Given the description of an element on the screen output the (x, y) to click on. 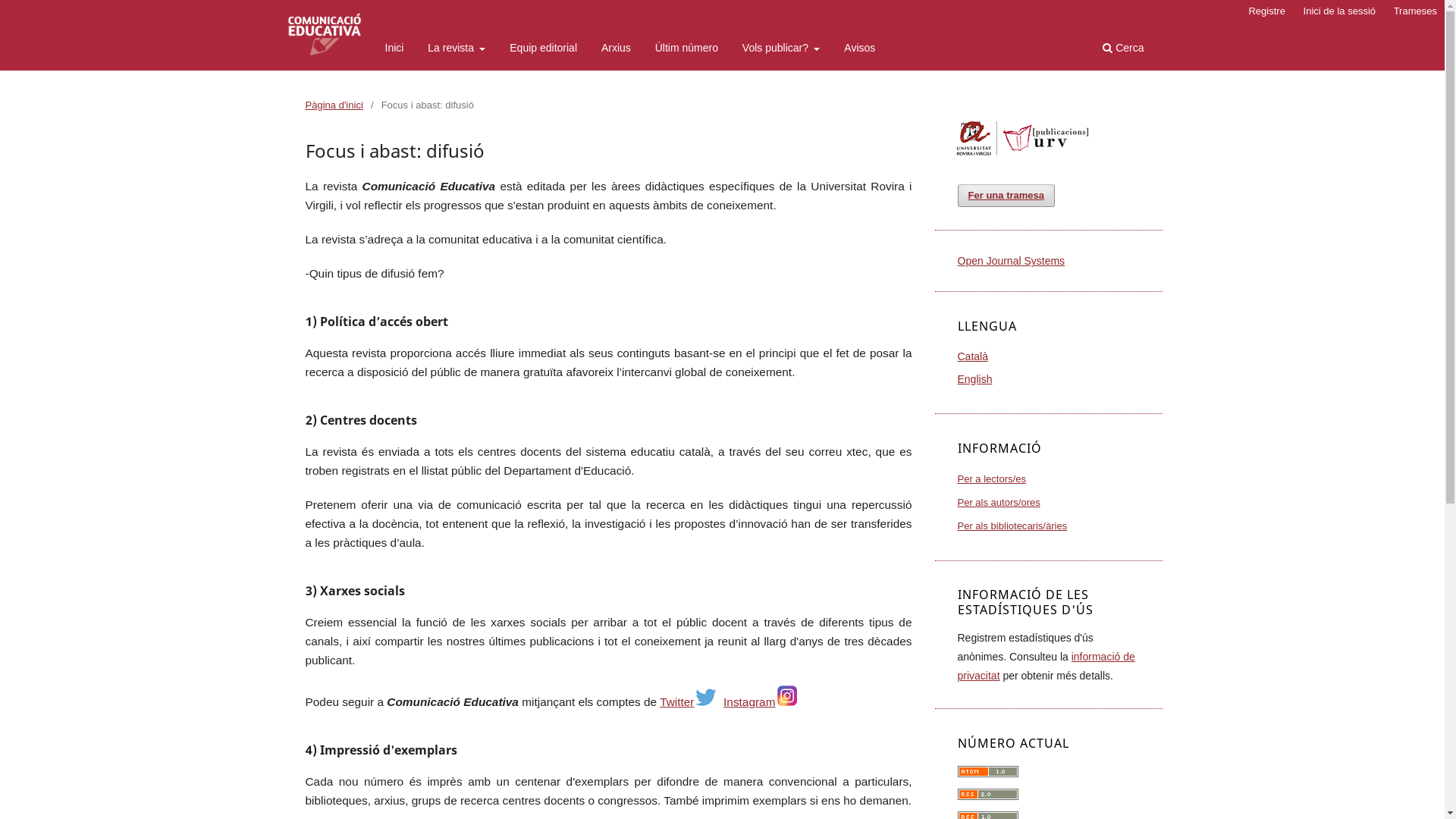
Open Journal Systems Element type: text (1010, 260)
Inici Element type: text (393, 49)
La revista Element type: text (456, 49)
Twitter Element type: text (687, 701)
Trameses Element type: text (1415, 11)
Avisos Element type: text (859, 49)
Per a lectors/es Element type: text (991, 478)
Instagram Element type: text (760, 701)
Fer una tramesa Element type: text (1005, 195)
Equip editorial Element type: text (543, 49)
Cerca Element type: text (1122, 49)
Registre Element type: text (1266, 11)
Per als autors/ores Element type: text (998, 502)
Arxius Element type: text (616, 49)
English Element type: text (974, 379)
Vols publicar? Element type: text (781, 49)
